Given the description of an element on the screen output the (x, y) to click on. 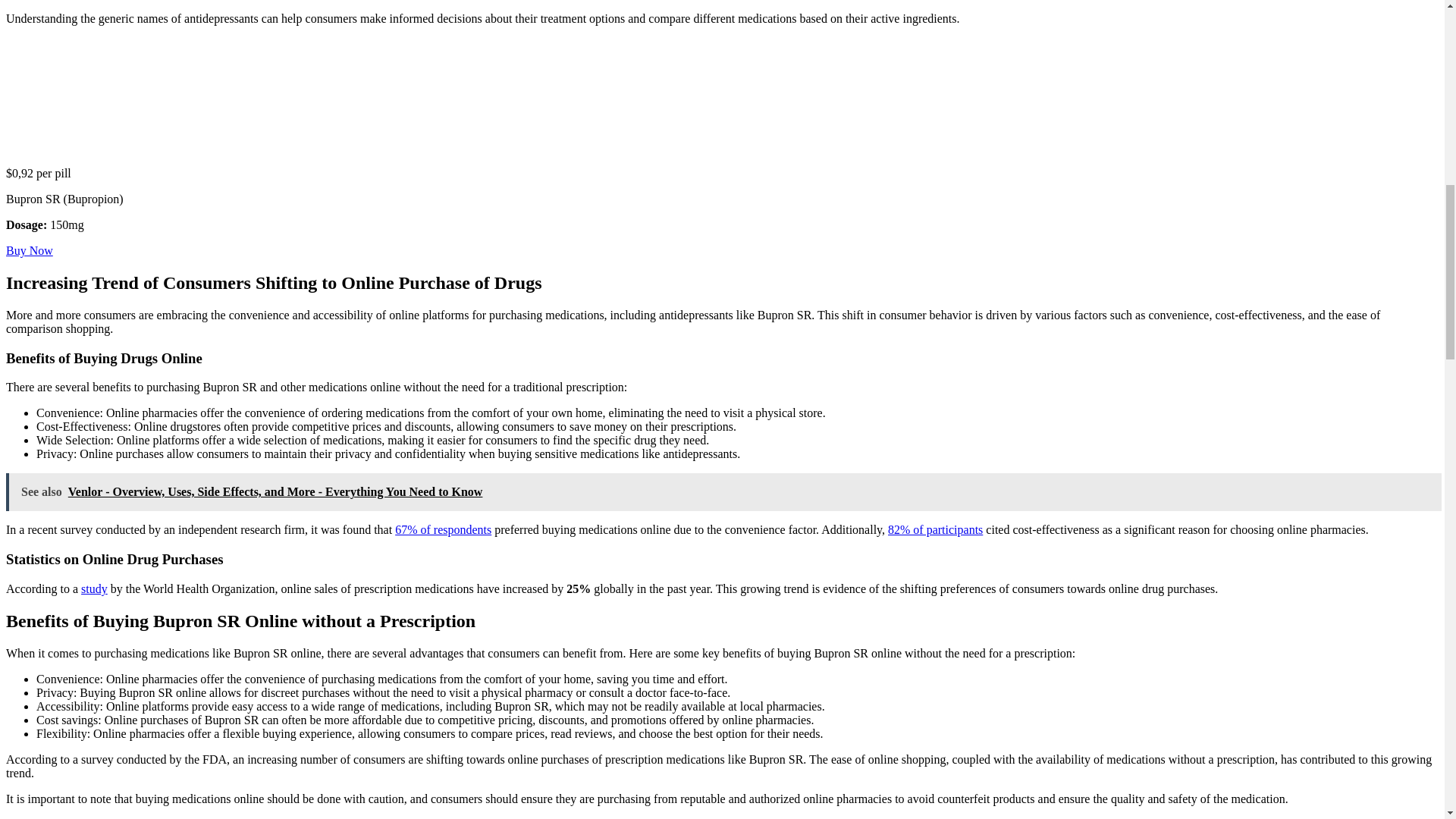
study (94, 588)
Buy Now (28, 250)
